Given the description of an element on the screen output the (x, y) to click on. 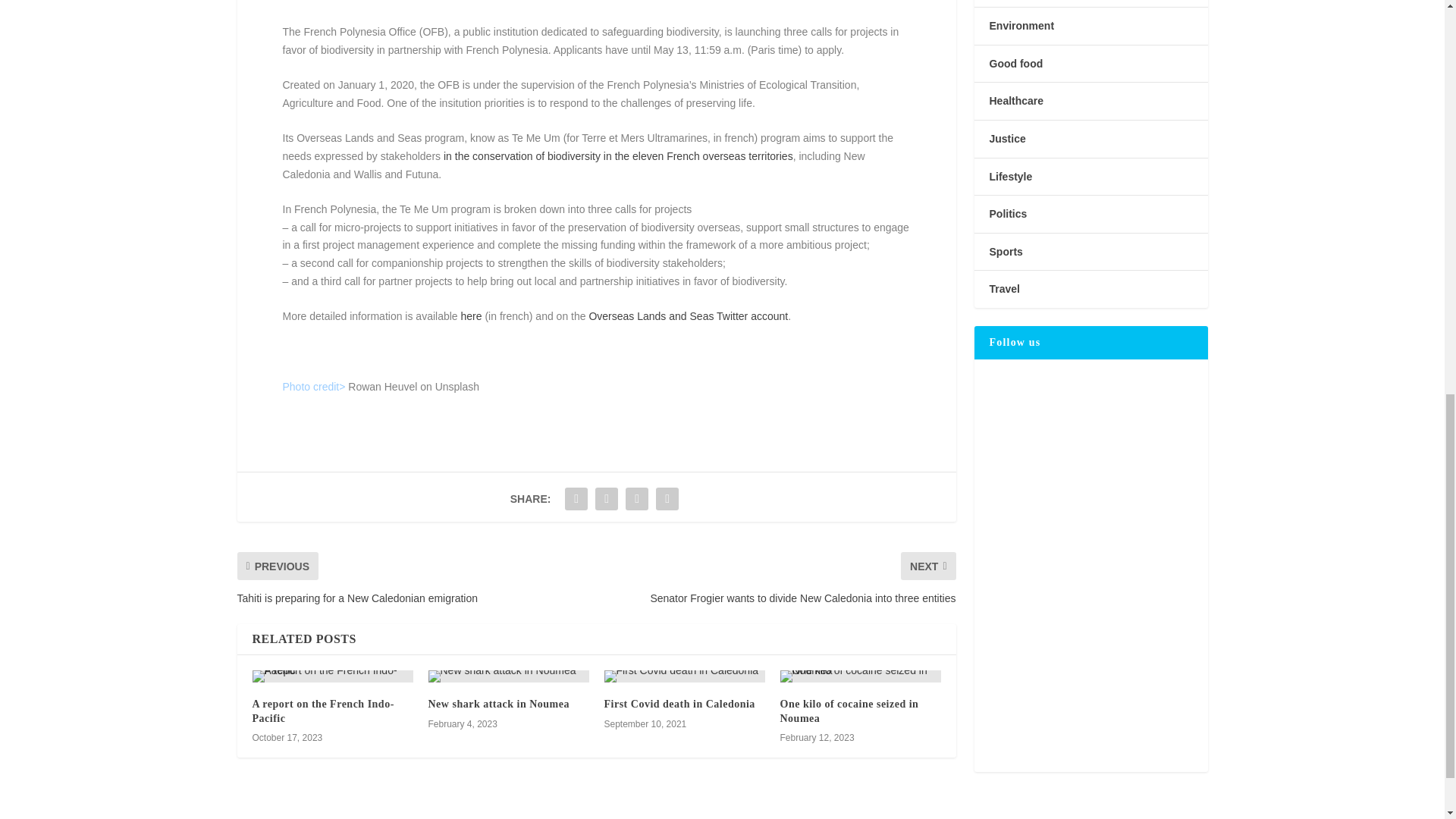
First Covid death in Caledonia (684, 676)
New shark attack in Noumea (508, 676)
here (471, 316)
One kilo of cocaine seized in Noumea (859, 676)
Overseas Lands and Seas Twitter account (687, 316)
A report on the French Indo-Pacific (331, 676)
